Given the description of an element on the screen output the (x, y) to click on. 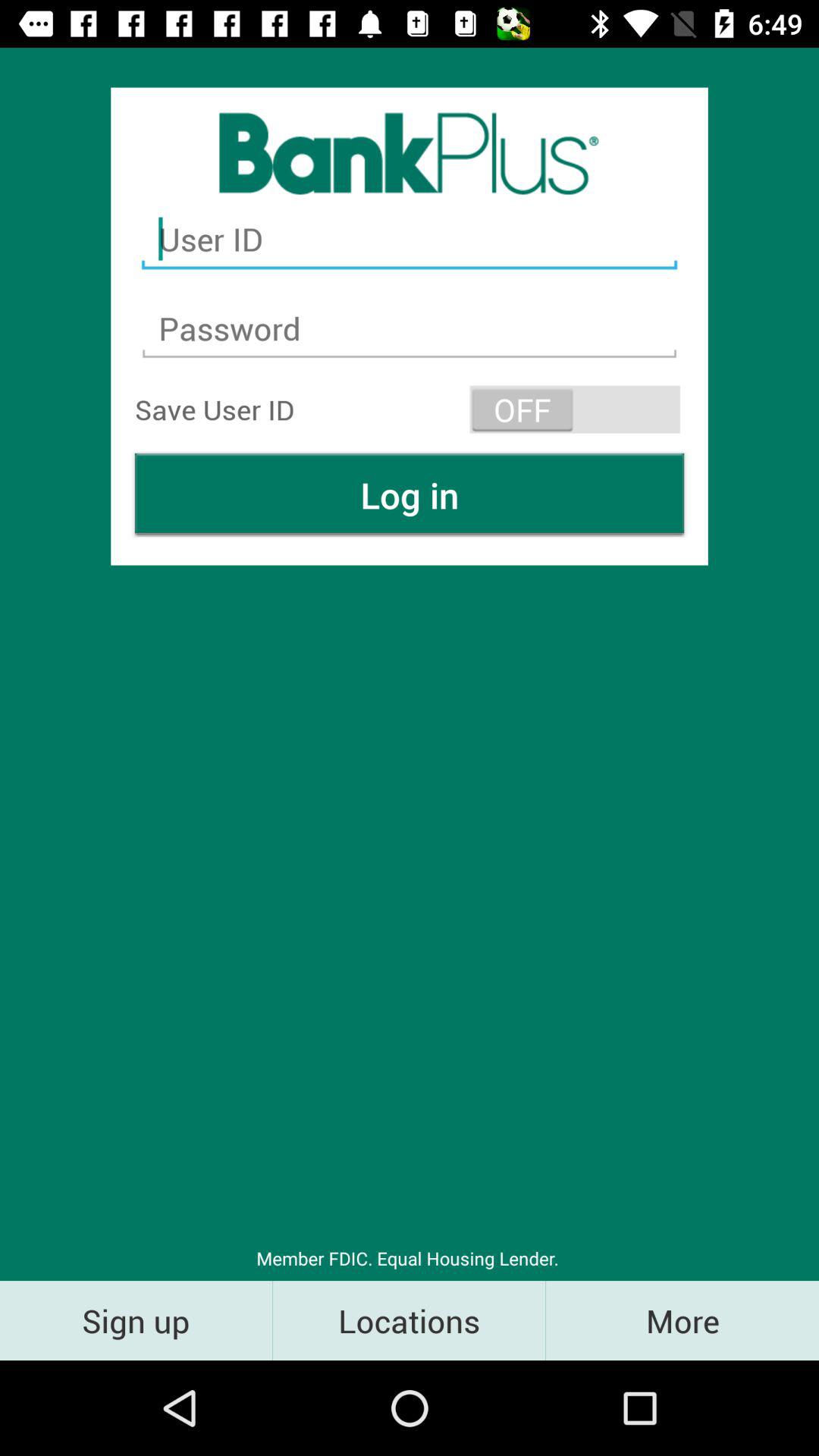
press the icon to the right of sign up item (409, 1320)
